Given the description of an element on the screen output the (x, y) to click on. 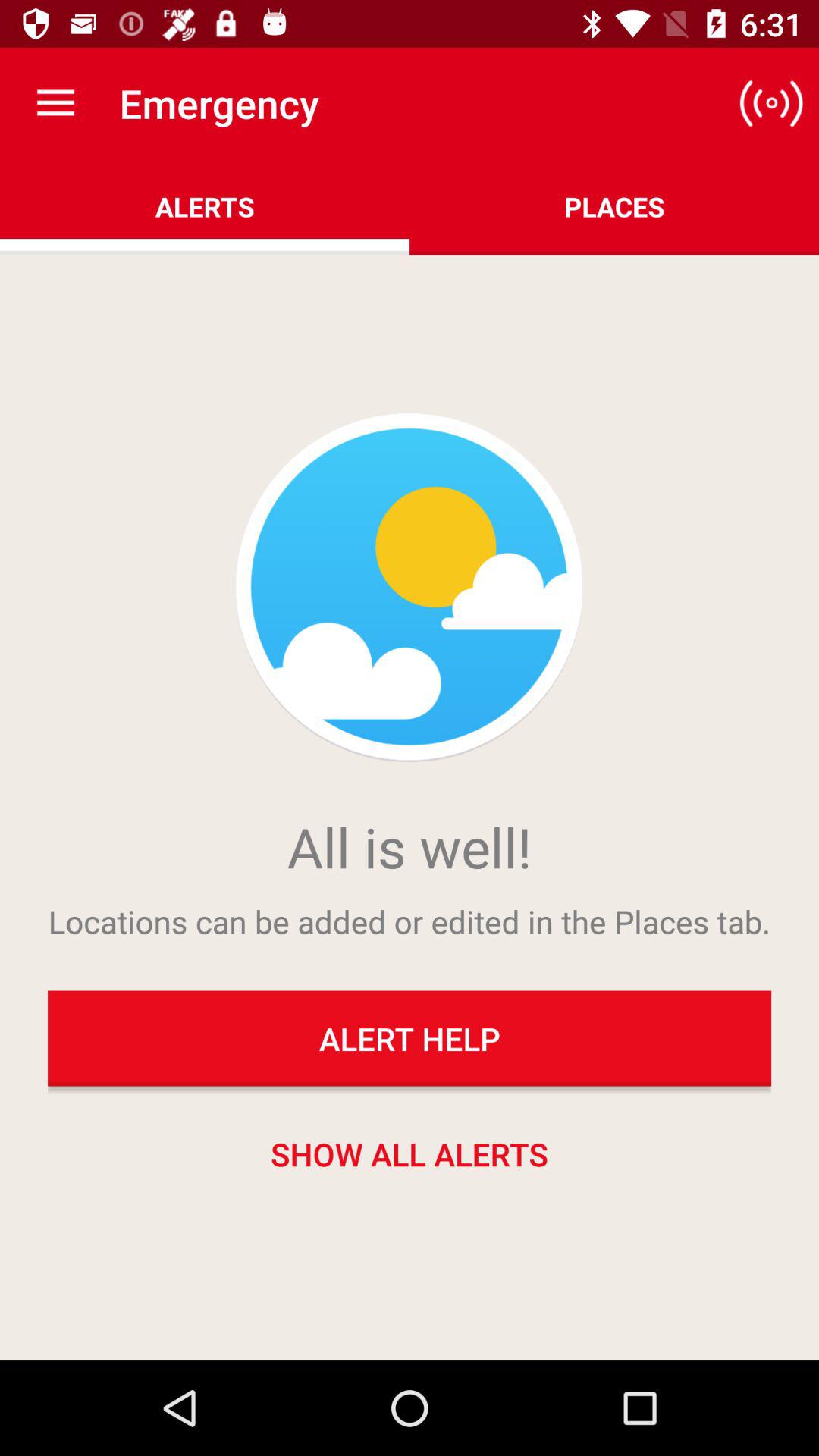
turn on the icon above the show all alerts (409, 1038)
